Given the description of an element on the screen output the (x, y) to click on. 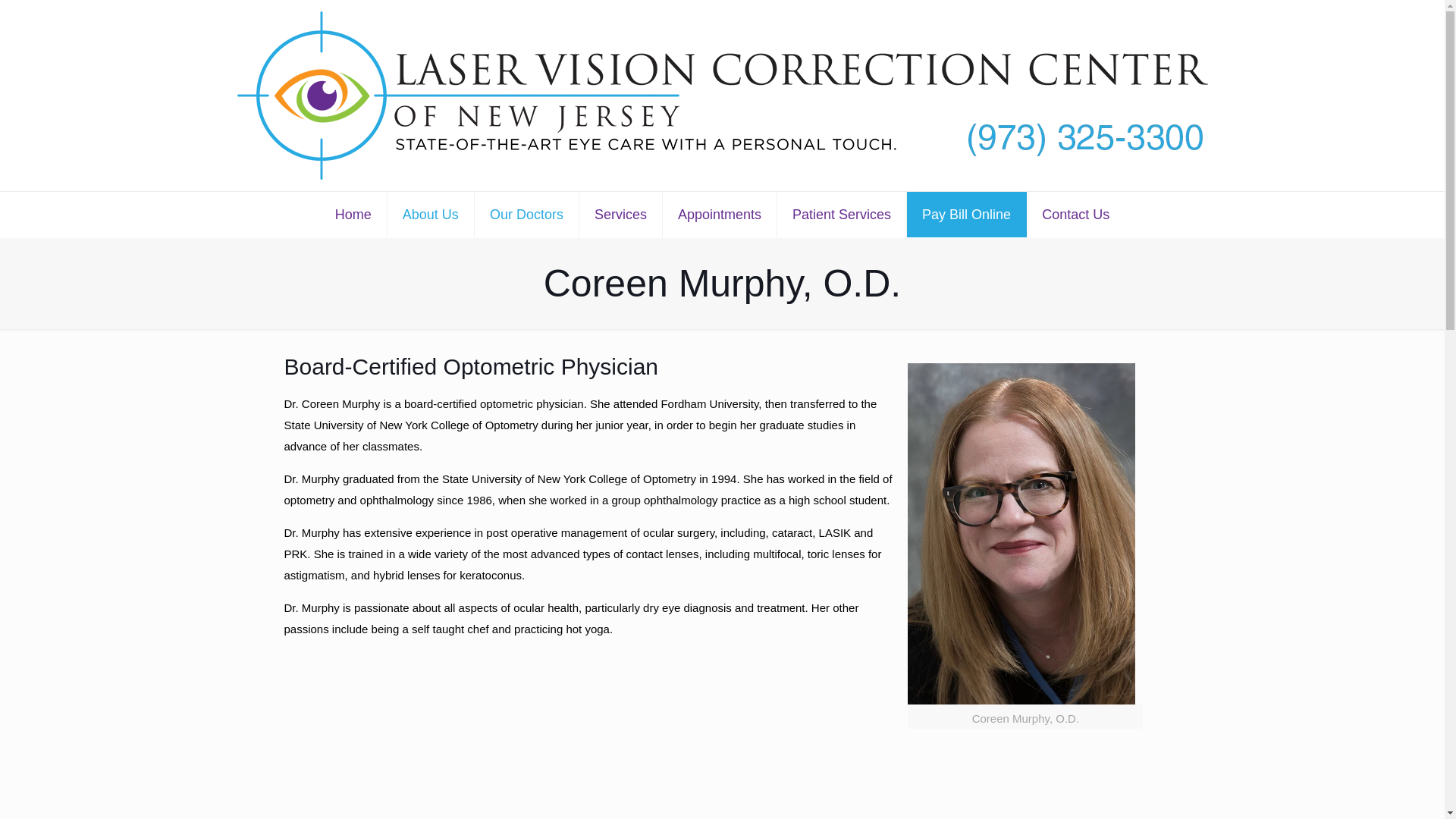
Patient Services (842, 214)
Services (620, 214)
About Us (430, 214)
Home (353, 214)
Appointments (719, 214)
Our Doctors (526, 214)
